Given the description of an element on the screen output the (x, y) to click on. 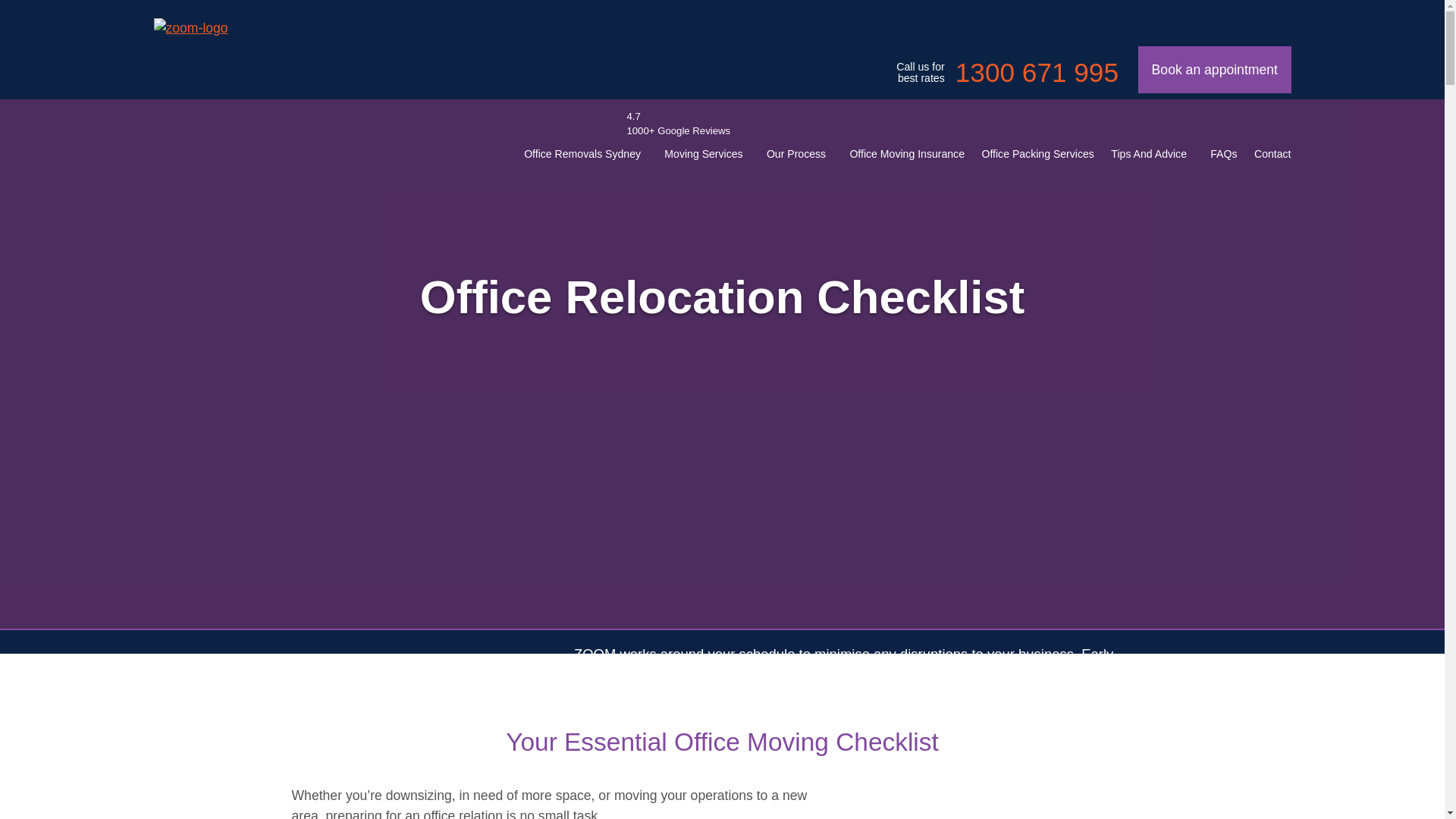
Book an appointment (1214, 69)
1300 671 995 (1036, 73)
Moving Services (702, 153)
Office Removals Sydney (582, 153)
Our Process (796, 153)
